Given the description of an element on the screen output the (x, y) to click on. 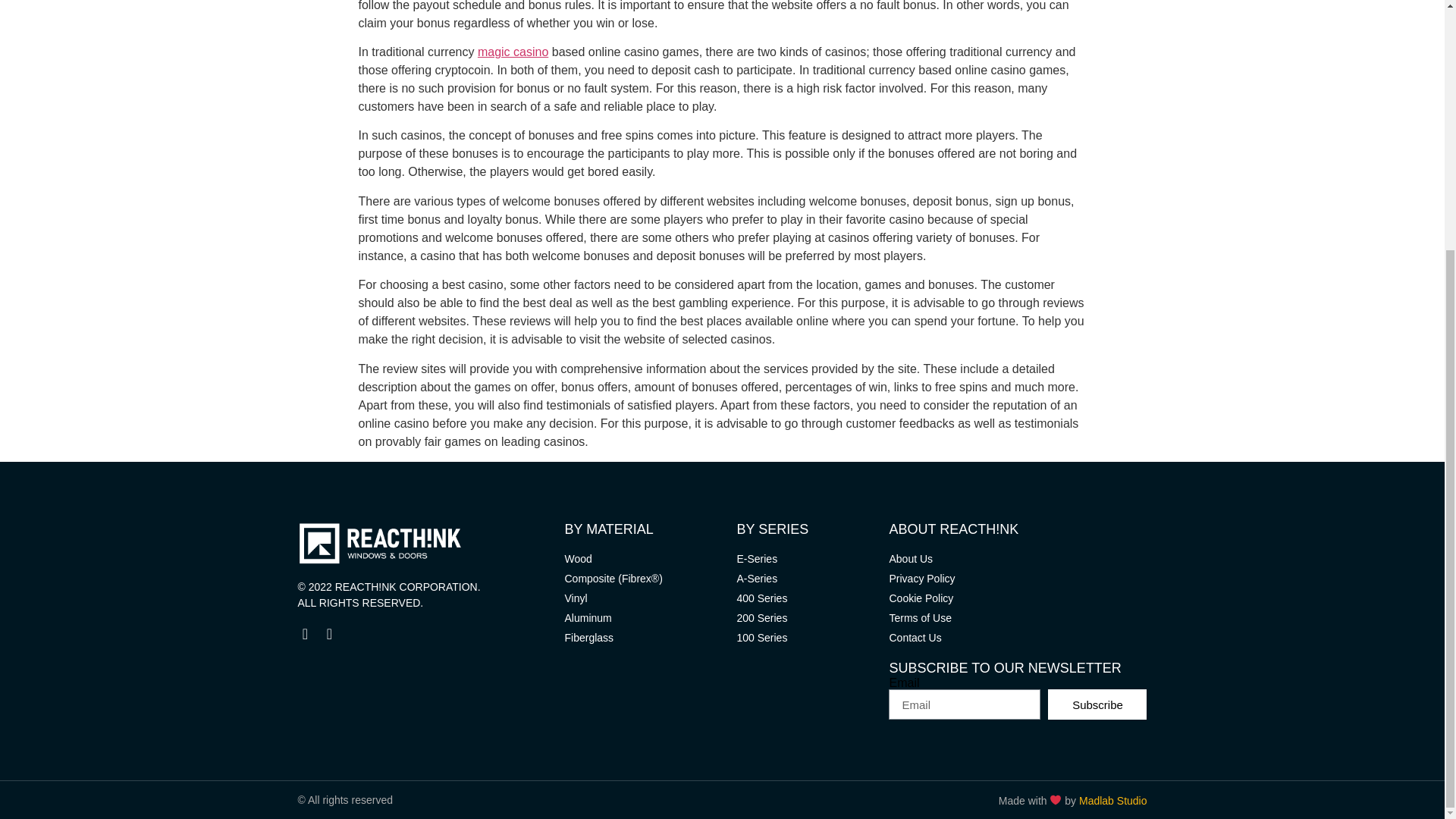
Cookie Policy (1017, 598)
Privacy Policy (1017, 578)
magic casino (512, 51)
Wood (642, 559)
Vinyl (642, 598)
400 Series (804, 598)
Subscribe (1097, 704)
Aluminum (642, 618)
E-Series (804, 559)
100 Series (804, 637)
Fiberglass (642, 637)
Terms of Use (1017, 618)
A-Series (804, 578)
About Us (1017, 559)
Madlab Studio (1112, 799)
